Given the description of an element on the screen output the (x, y) to click on. 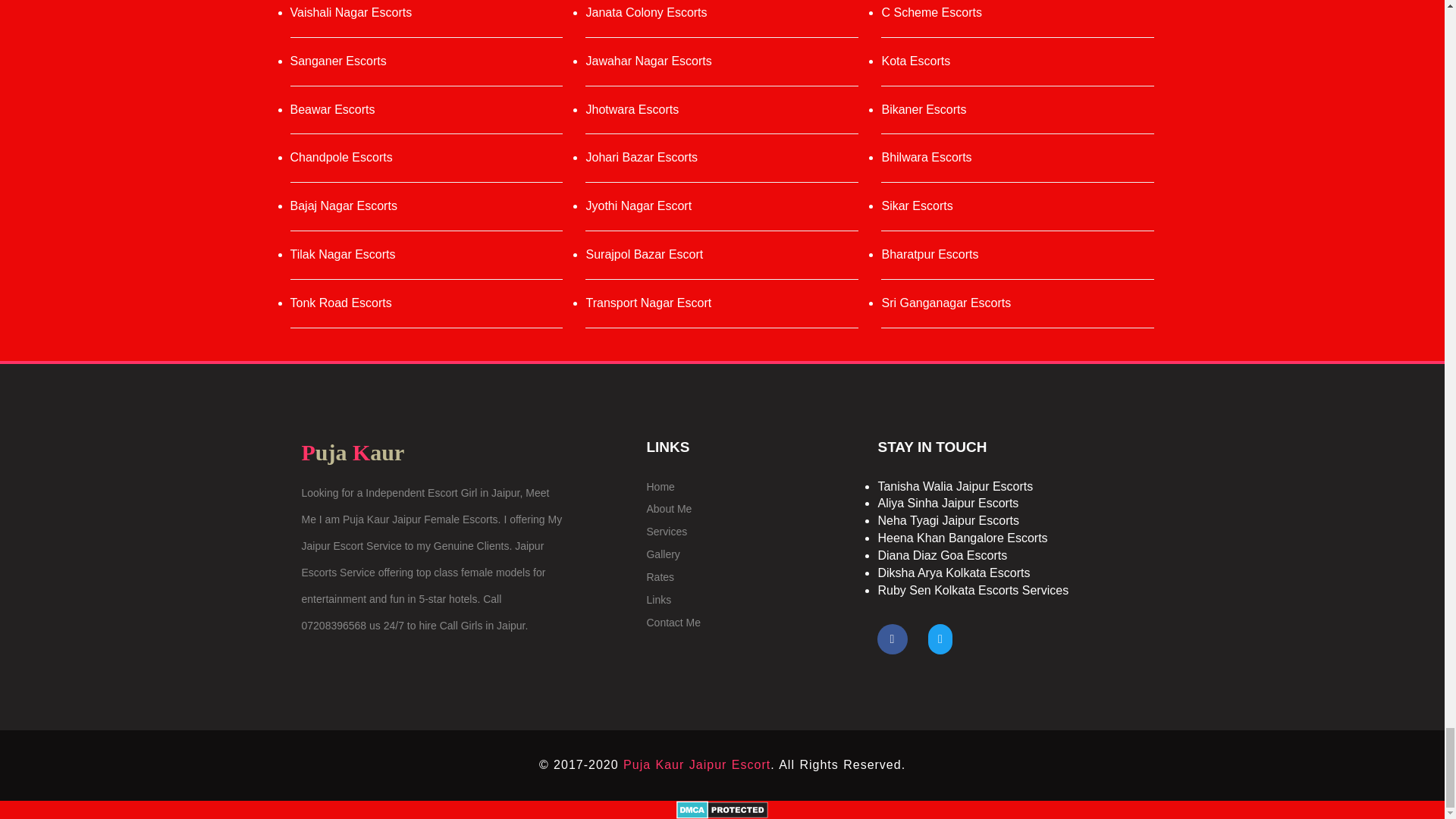
Puja Kaur Independent Jaipur Escort (696, 764)
DMCA.com Protection Status (722, 808)
